Given the description of an element on the screen output the (x, y) to click on. 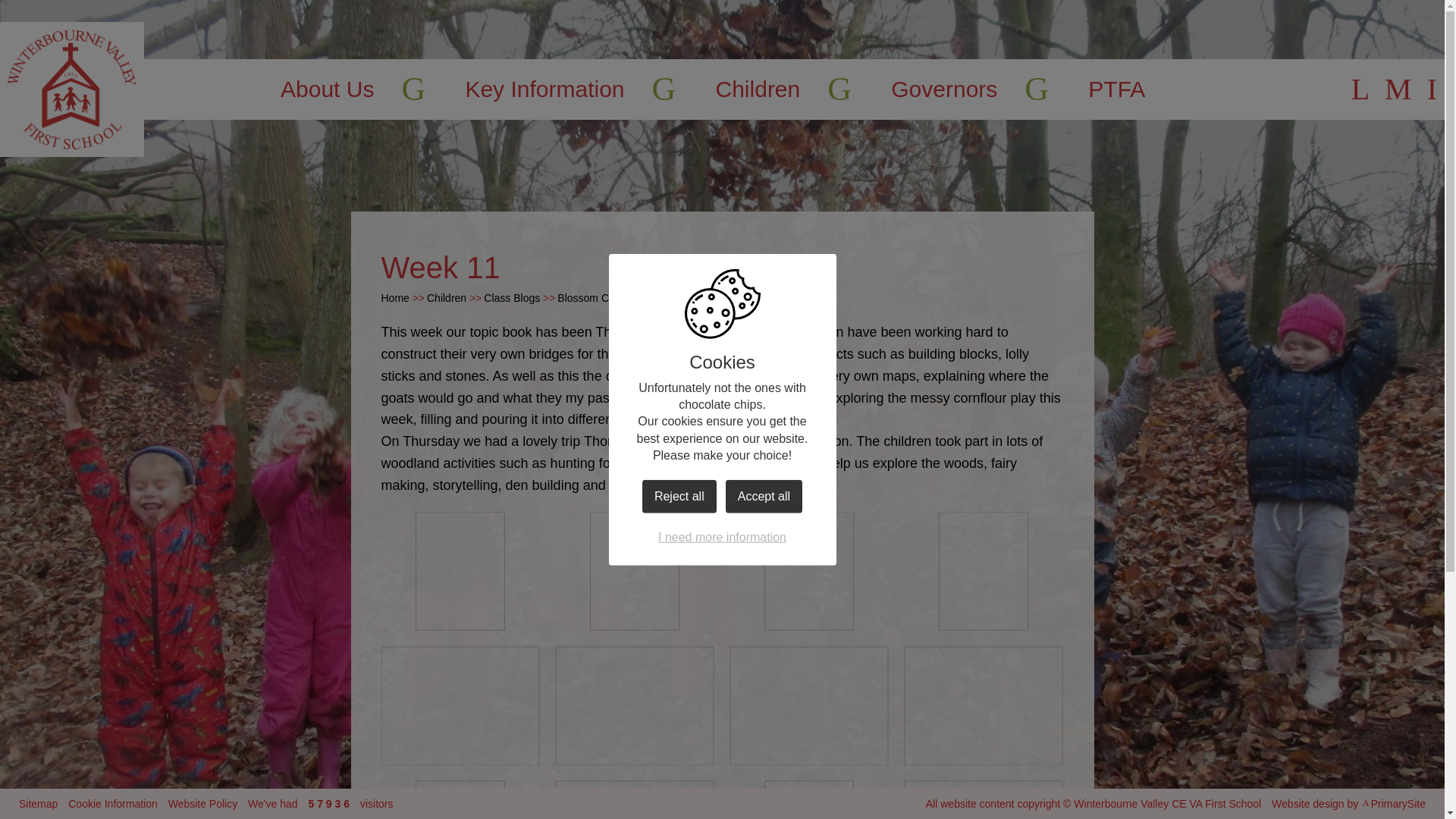
Key Information (544, 88)
Children (758, 88)
Home Page (72, 89)
About Us (327, 88)
